Given the description of an element on the screen output the (x, y) to click on. 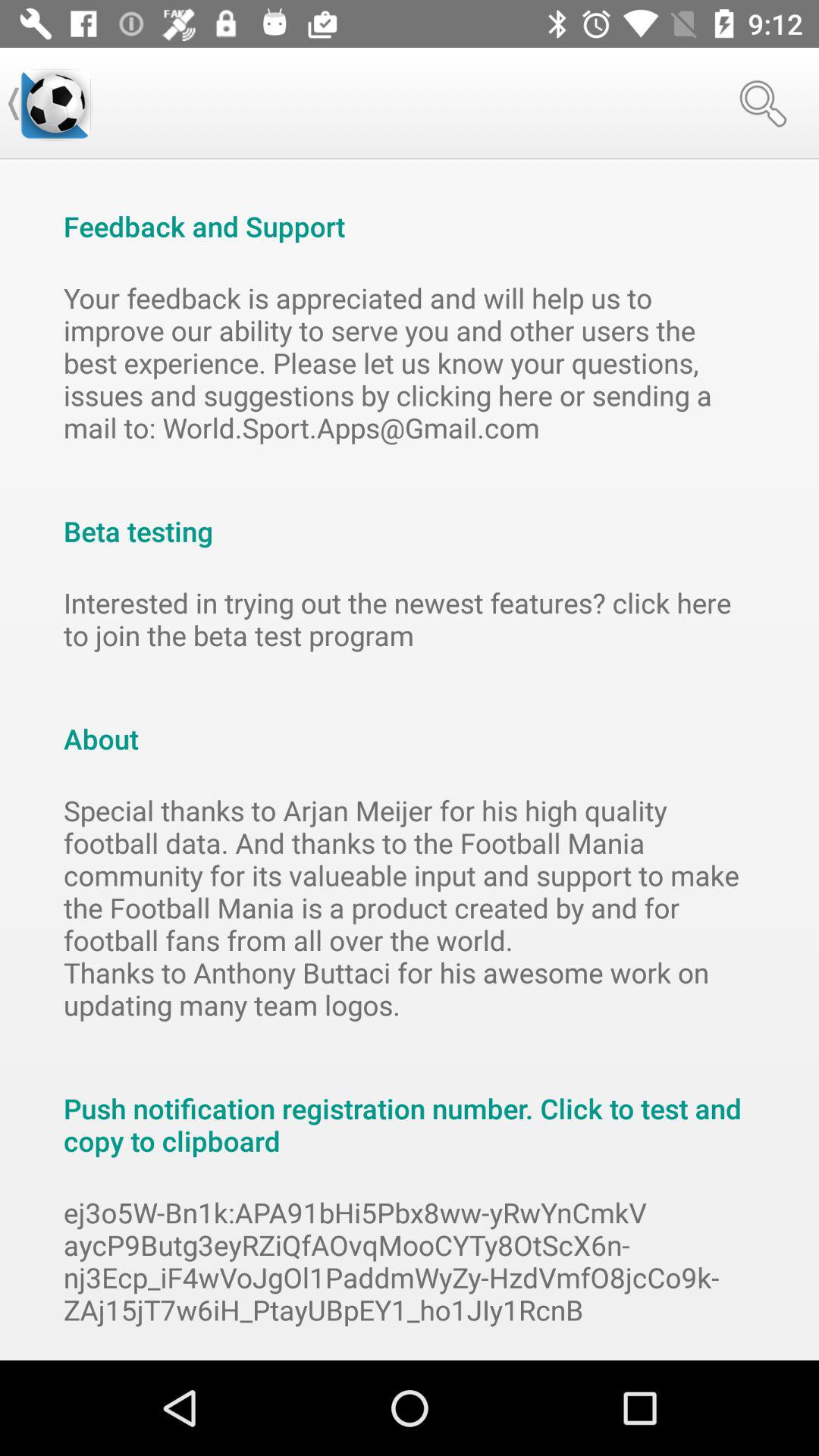
choose the item above the beta testing (409, 362)
